Given the description of an element on the screen output the (x, y) to click on. 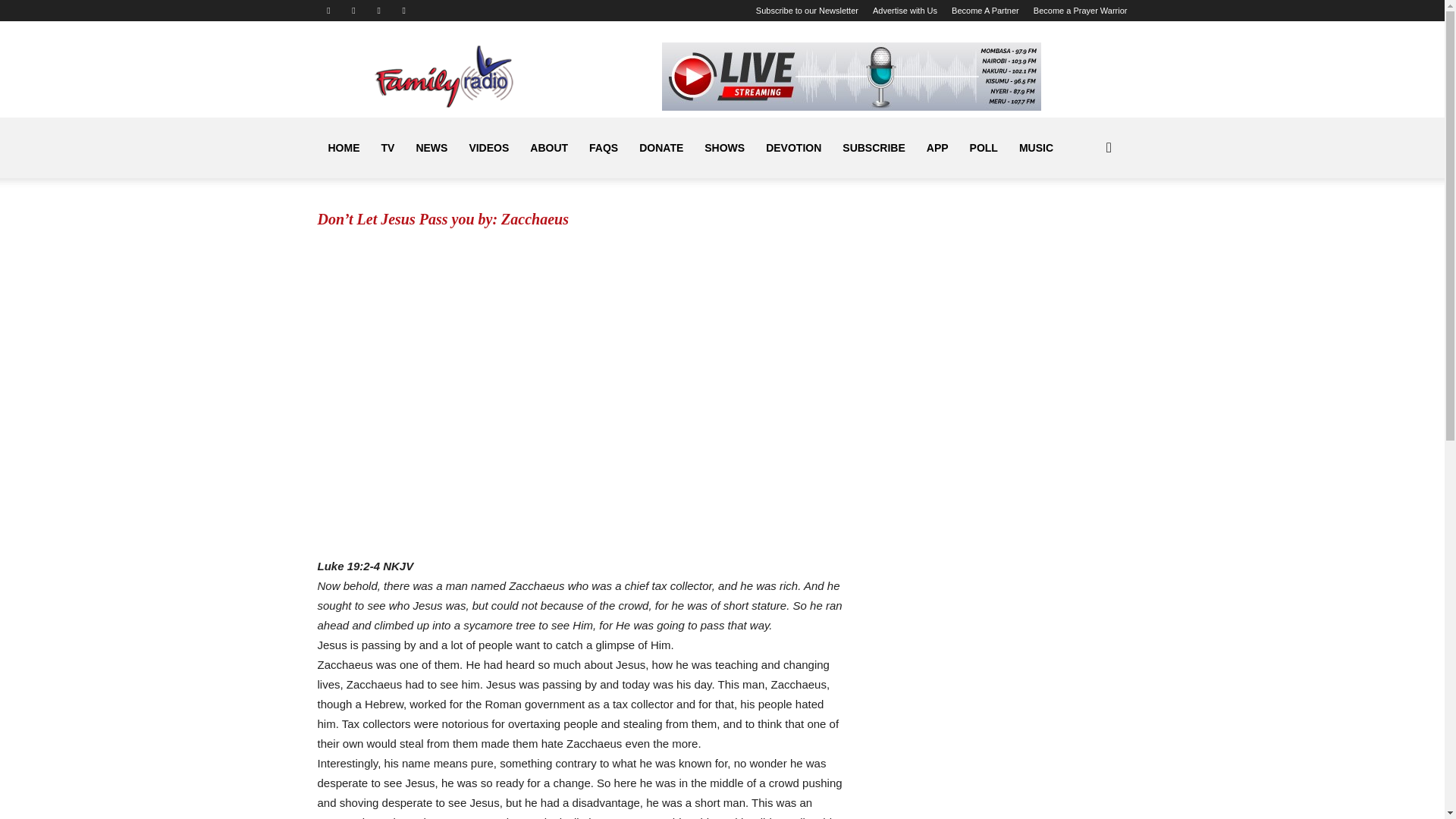
Twitter (379, 10)
Instagram (353, 10)
TBN FAMILY MEDIA (445, 76)
Youtube (403, 10)
Facebook (328, 10)
